Given the description of an element on the screen output the (x, y) to click on. 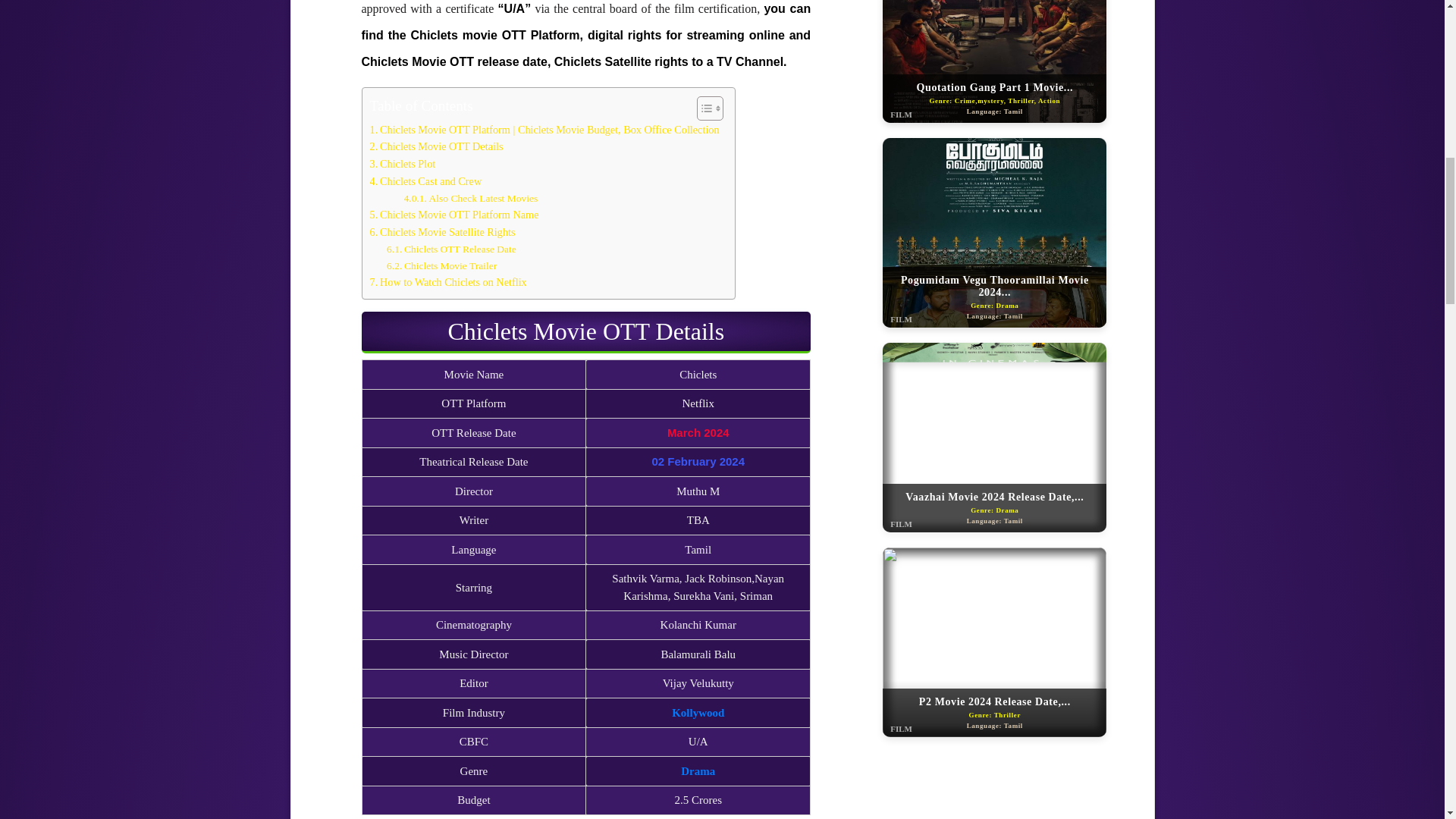
How to Watch Chiclets on Netflix (448, 282)
Chiclets Cast and Crew (425, 181)
Chiclets Movie Satellite Rights (442, 231)
Chiclets Movie OTT Platform Name (453, 214)
Chiclets Movie OTT Details (436, 146)
Chiclets Movie Trailer (441, 265)
Also Check Latest Movies (470, 198)
Chiclets Plot (402, 163)
Chiclets Movie OTT Details  (436, 146)
Chiclets OTT Release Date (451, 248)
